Given the description of an element on the screen output the (x, y) to click on. 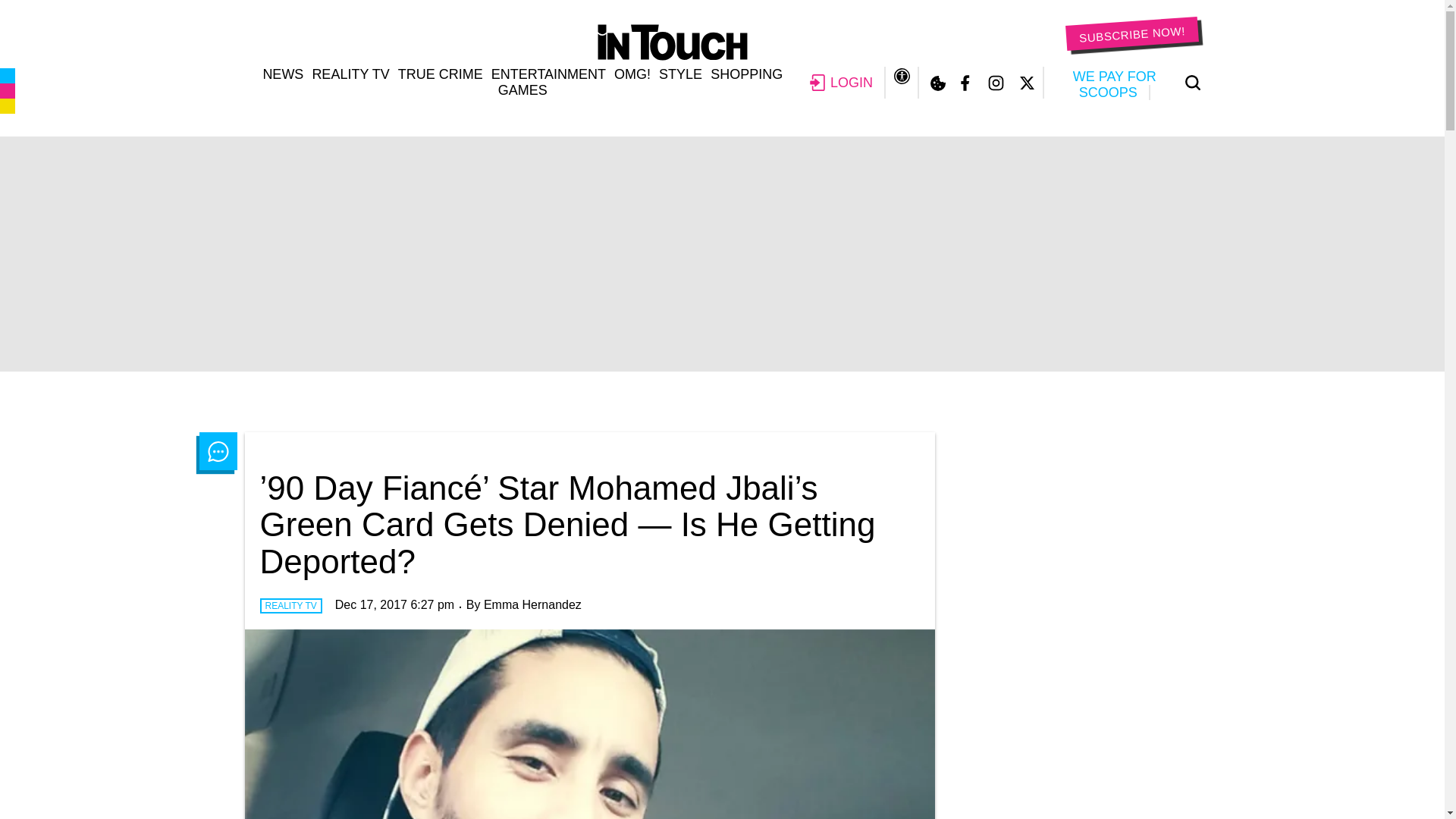
Posts by Emma Hernandez (531, 604)
